Given the description of an element on the screen output the (x, y) to click on. 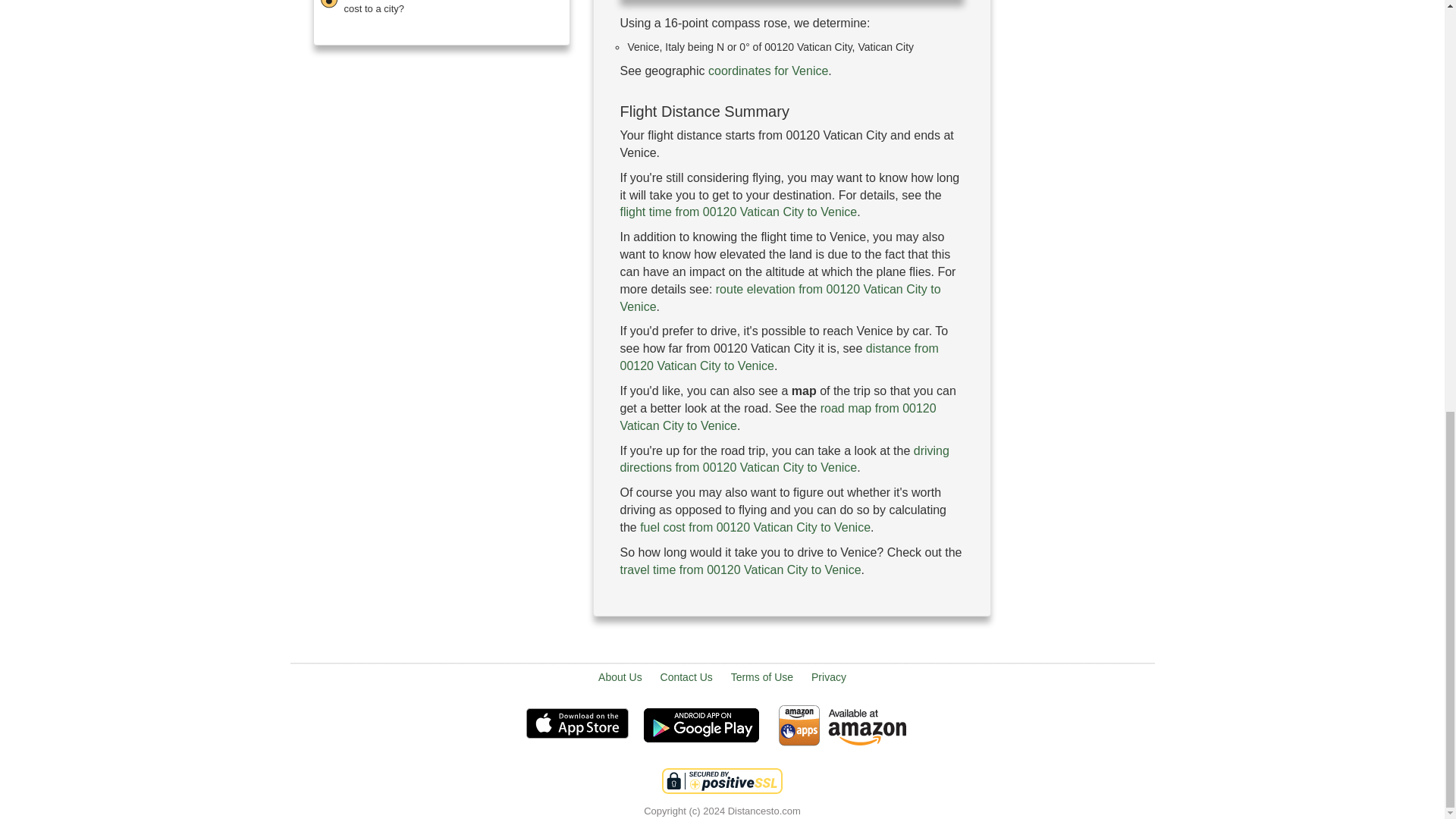
coordinates for Venice (767, 70)
coordinates for Venice (767, 70)
flight time from 00120 Vatican City to Venice (738, 211)
fuel cost from 00120 Vatican City to Venice (755, 526)
road map from 00120 Vatican City to Venice (778, 417)
road map from 00120 Vatican City to Venice (778, 417)
flight time from 00120 Vatican City to Venice (738, 211)
fuel cost from 00120 Vatican City to Venice (755, 526)
travel time from 00120 Vatican City to Venice (740, 569)
driving directions from 00120 Vatican City to Venice (784, 459)
route elevation from 00120 Vatican City to Venice (780, 297)
distance from 00120 Vatican City to Venice (778, 357)
route elevation from 00120 Vatican City to Venice (780, 297)
Advertisement (791, 636)
driving directions from 00120 Vatican City to Venice (784, 459)
